Given the description of an element on the screen output the (x, y) to click on. 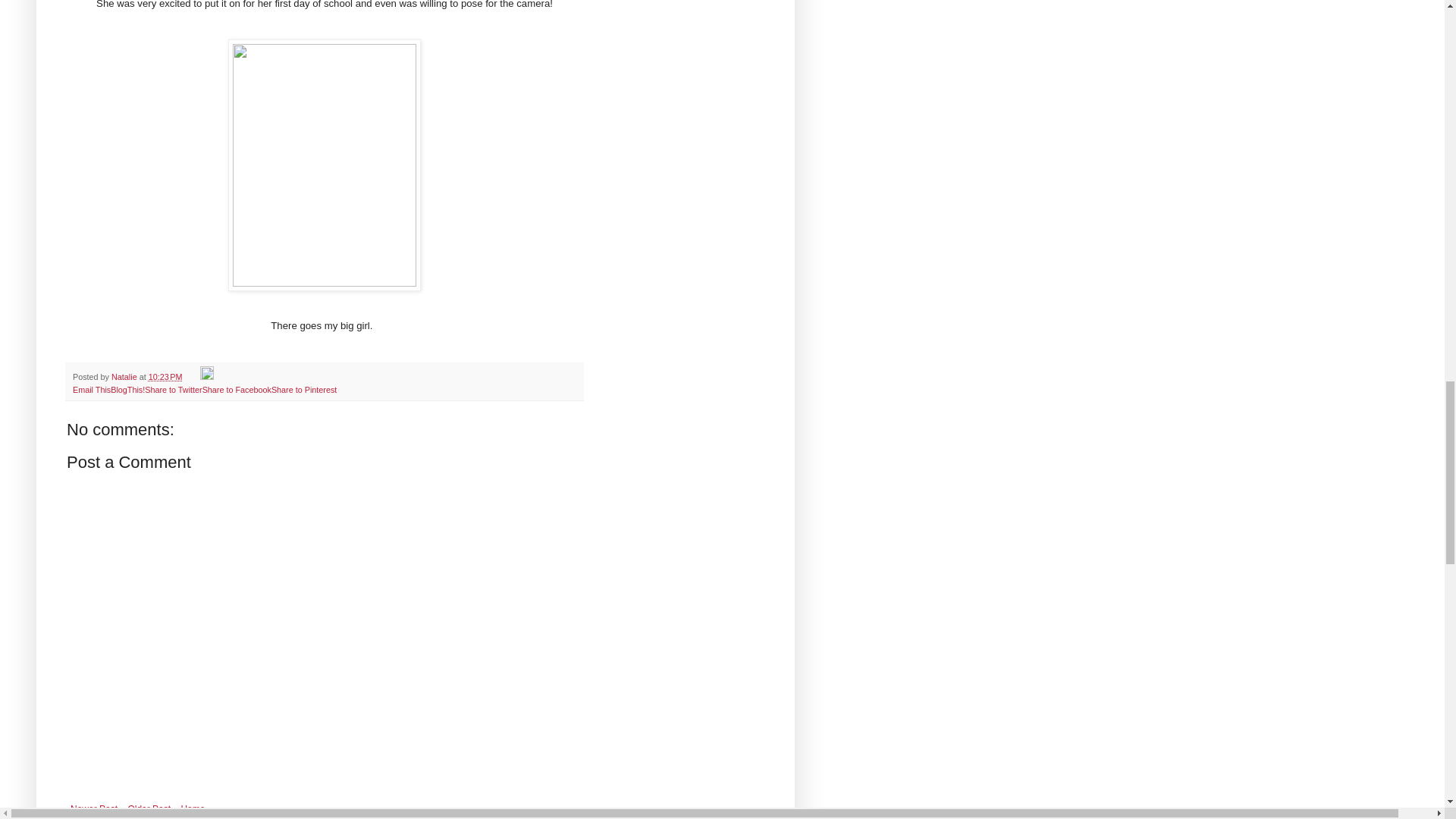
Older Post (148, 809)
Newer Post (93, 809)
Older Post (148, 809)
author profile (125, 376)
Share to Pinterest (303, 388)
Edit Post (207, 376)
Natalie (125, 376)
Share to Facebook (236, 388)
Email This (91, 388)
Newer Post (93, 809)
BlogThis! (127, 388)
Share to Facebook (236, 388)
Share to Twitter (173, 388)
Share to Pinterest (303, 388)
Email Post (192, 376)
